Given the description of an element on the screen output the (x, y) to click on. 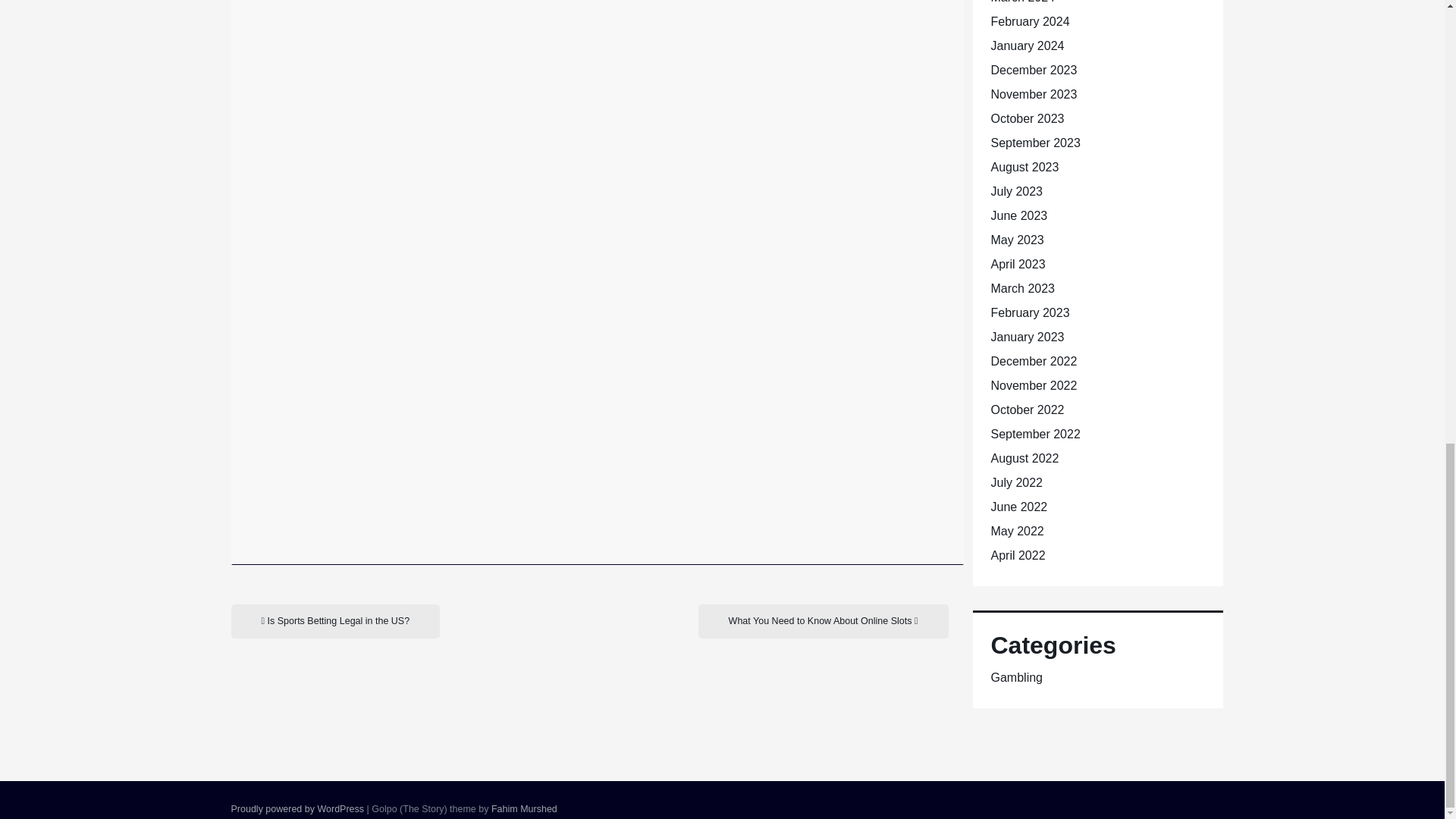
March 2023 (1022, 287)
June 2022 (1018, 506)
Is Sports Betting Legal in the US? (334, 621)
October 2023 (1027, 118)
February 2024 (1029, 21)
December 2022 (1033, 360)
April 2023 (1017, 264)
August 2022 (1024, 458)
September 2023 (1035, 142)
September 2022 (1035, 433)
